Given the description of an element on the screen output the (x, y) to click on. 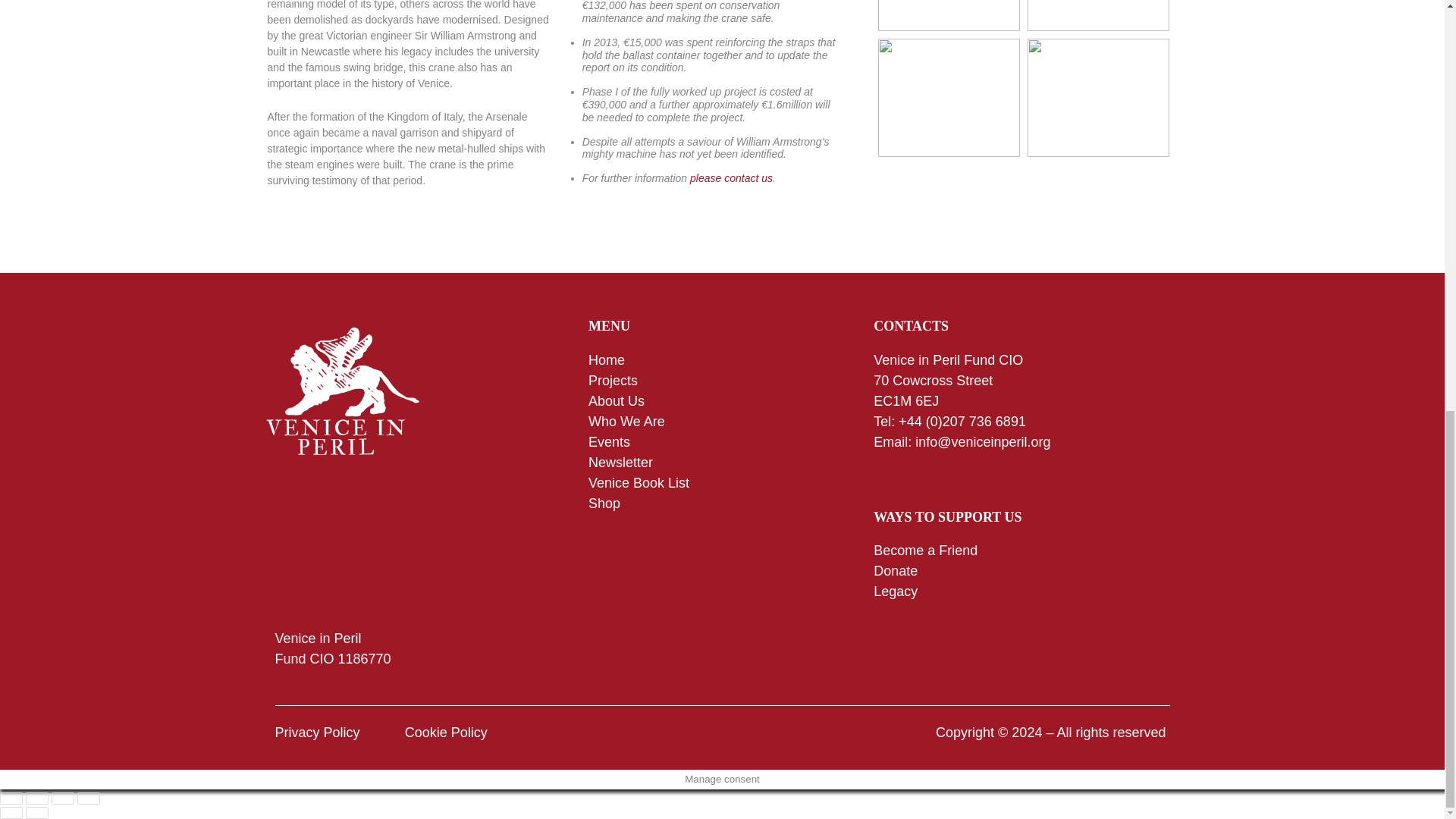
Projects  (615, 380)
Who We Are (626, 421)
Events (609, 441)
please contact us (731, 177)
Home (606, 359)
About Us (616, 400)
